Given the description of an element on the screen output the (x, y) to click on. 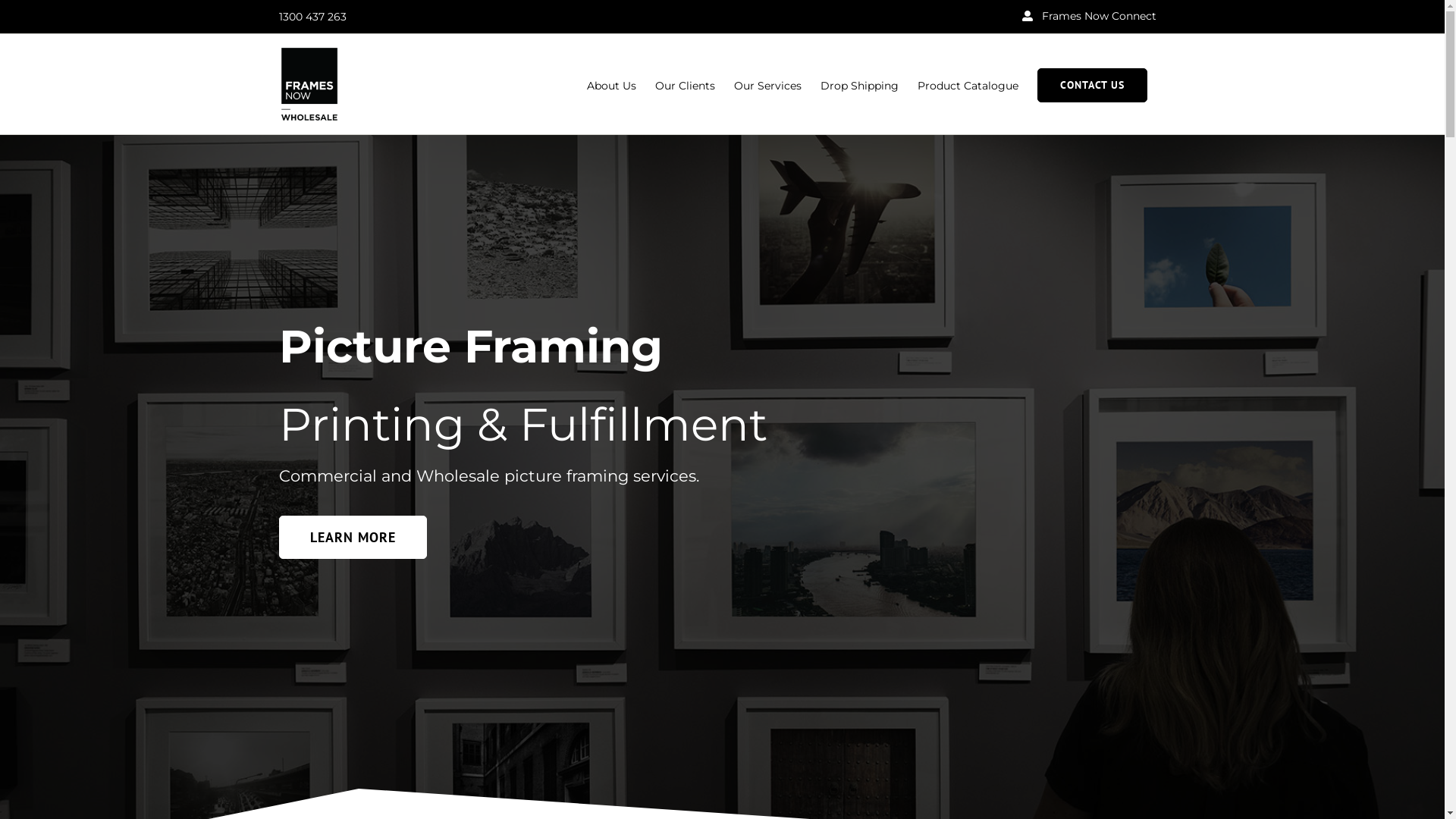
CONTACT US Element type: text (1092, 84)
Frames Now Connect Element type: text (1088, 16)
Our Services Element type: text (767, 84)
LEARN MORE Element type: text (352, 536)
Our Clients Element type: text (685, 84)
About Us Element type: text (611, 84)
Drop Shipping Element type: text (859, 84)
Product Catalogue Element type: text (967, 84)
